Given the description of an element on the screen output the (x, y) to click on. 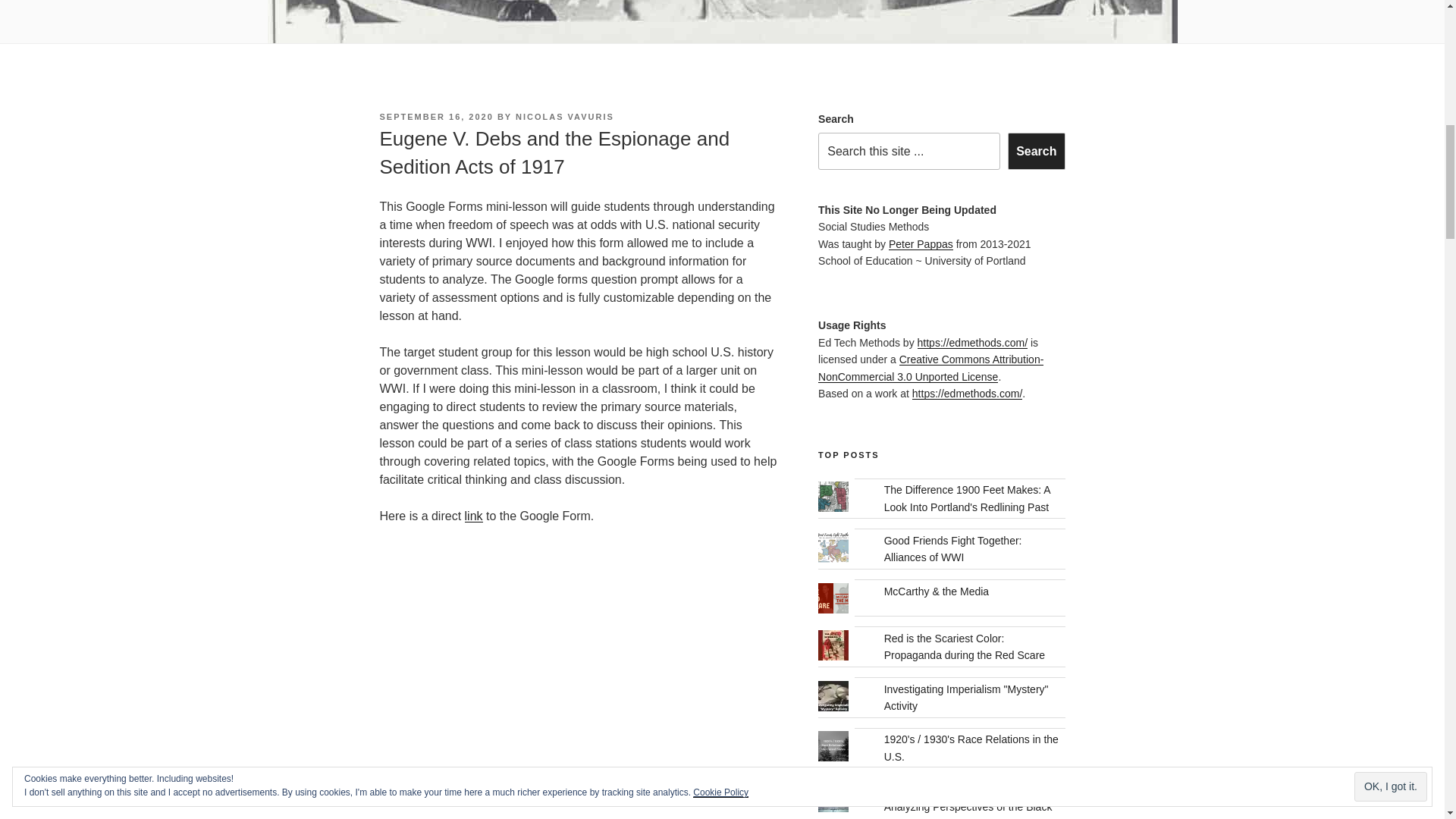
link (473, 515)
SEPTEMBER 16, 2020 (435, 116)
NICOLAS VAVURIS (564, 116)
